Given the description of an element on the screen output the (x, y) to click on. 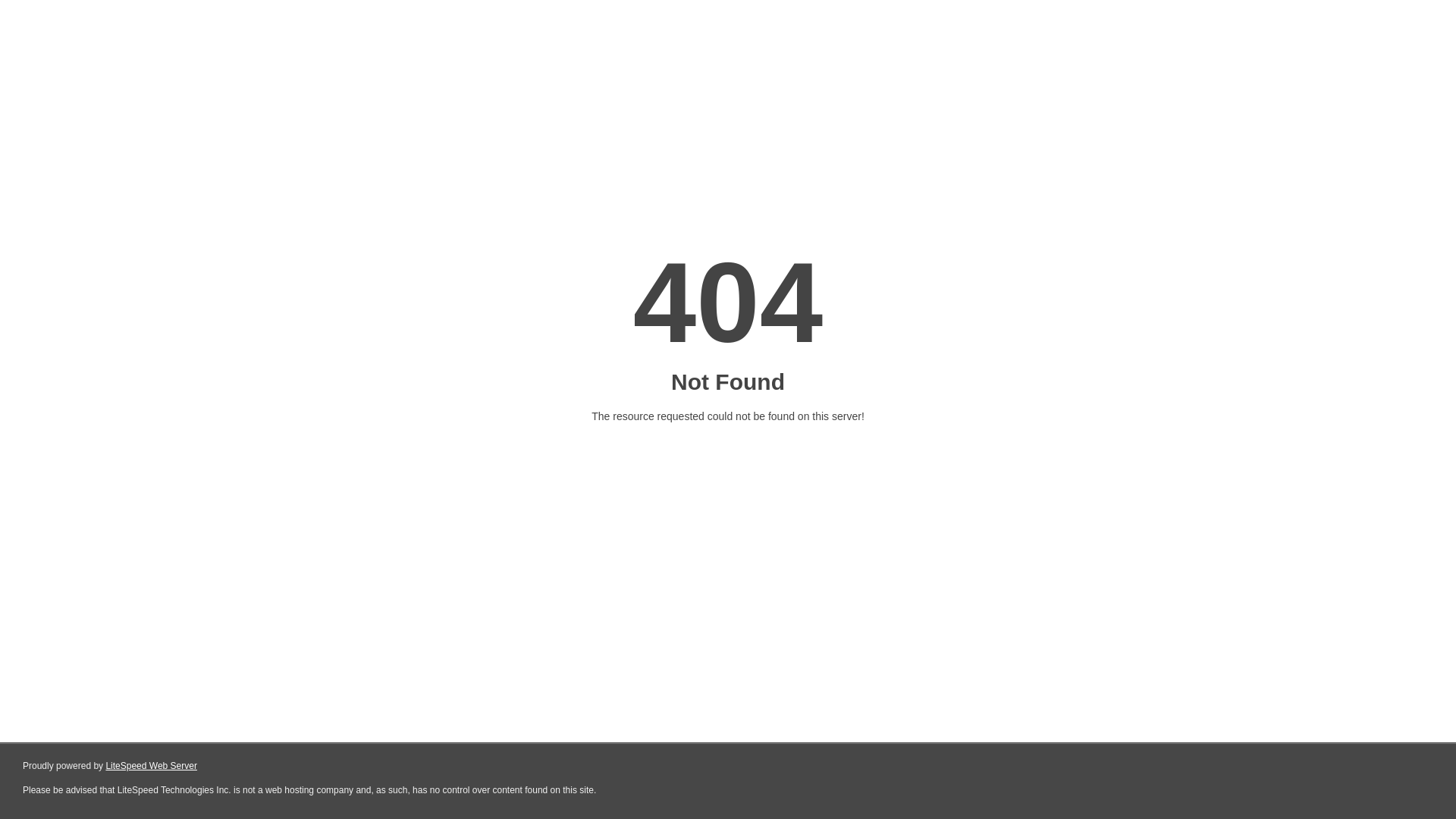
LiteSpeed Web Server Element type: text (151, 765)
